Given the description of an element on the screen output the (x, y) to click on. 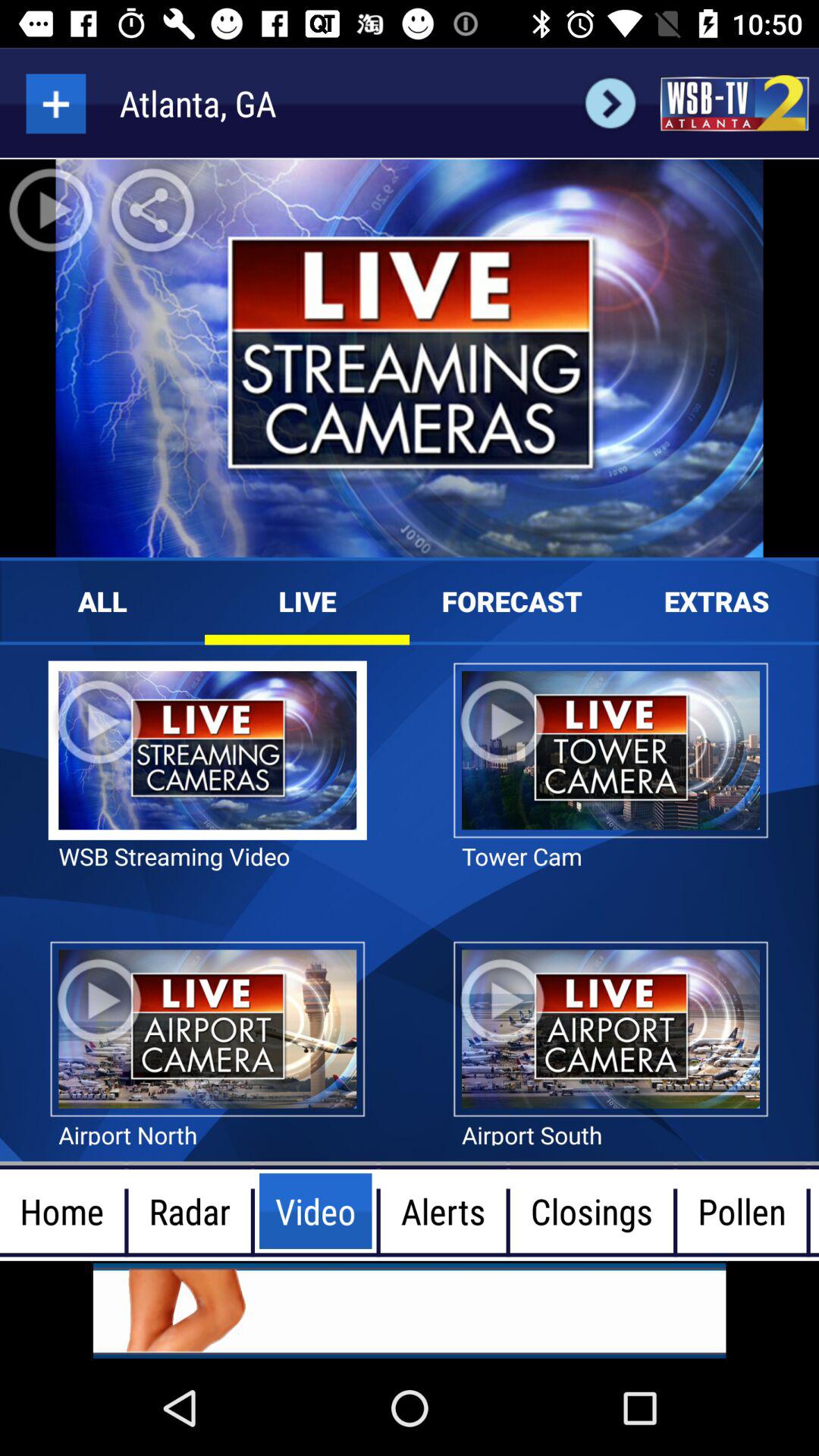
advertisement banner would take off site (409, 1310)
